Given the description of an element on the screen output the (x, y) to click on. 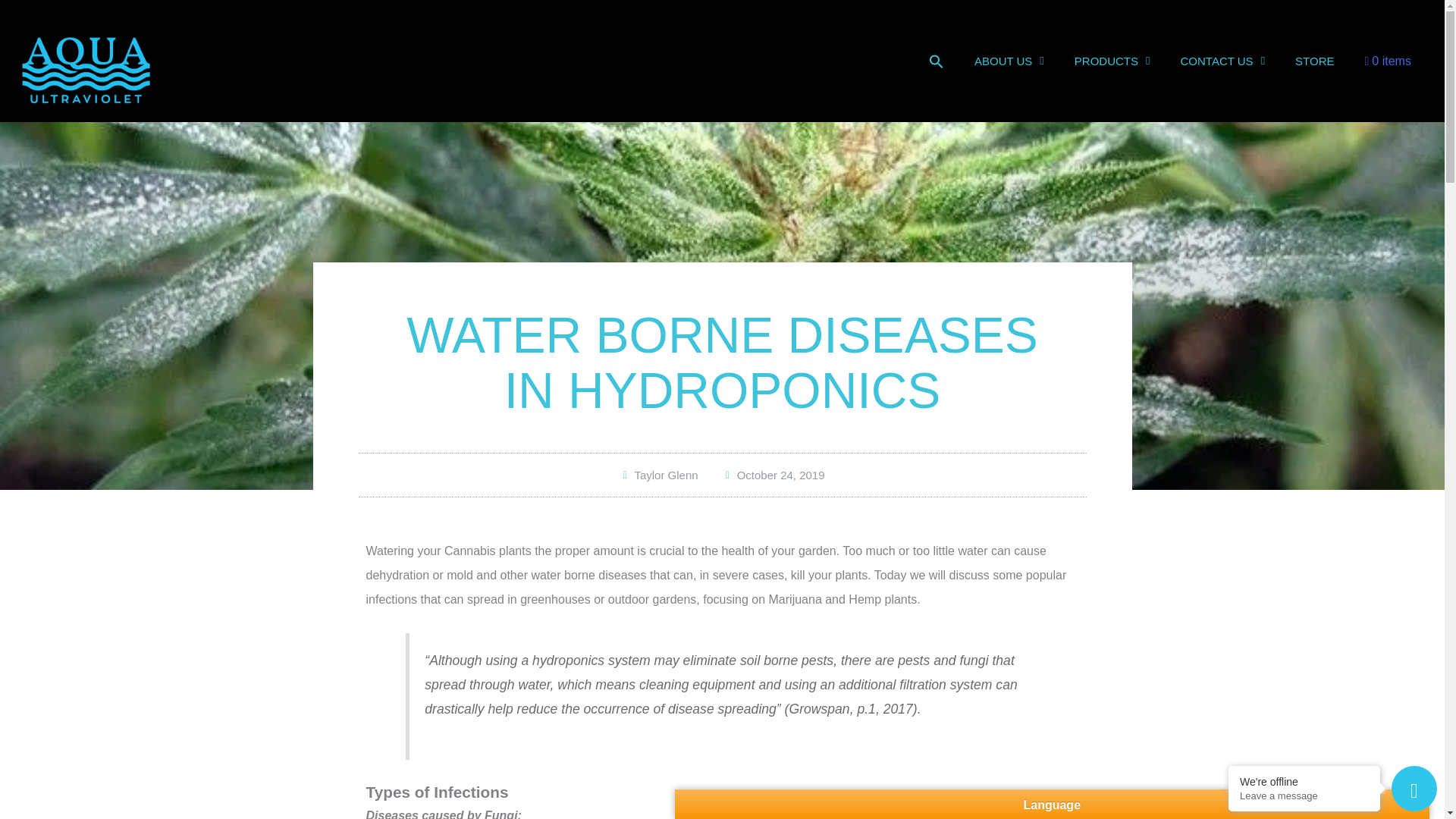
PRODUCTS (1112, 61)
ABOUT US (1009, 61)
Start shopping (1387, 61)
CONTACT US (1221, 61)
We're offline (1304, 781)
Leave a message (1304, 795)
